Given the description of an element on the screen output the (x, y) to click on. 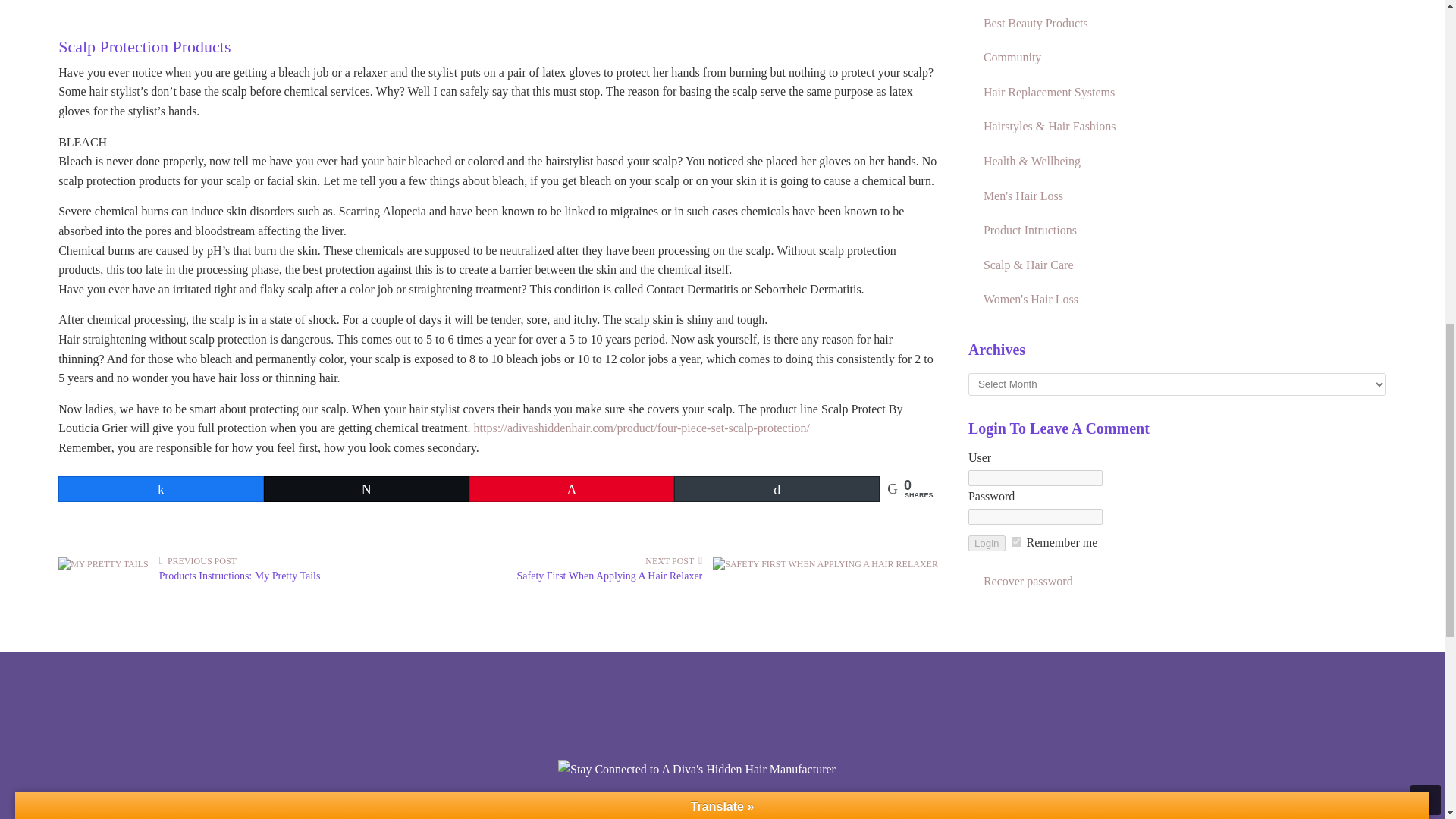
Go to previous post (196, 561)
forever (1016, 542)
Safety First When Applying A Hair Relaxer (825, 563)
Products Instructions: My Pretty Tails (103, 563)
Products Instructions: My Pretty Tails (239, 575)
Products Instructions: My Pretty Tails (239, 575)
 PREVIOUS POST (196, 561)
Go to next post (673, 561)
Login (987, 543)
Safety First When Applying A Hair Relaxer (609, 575)
